Given the description of an element on the screen output the (x, y) to click on. 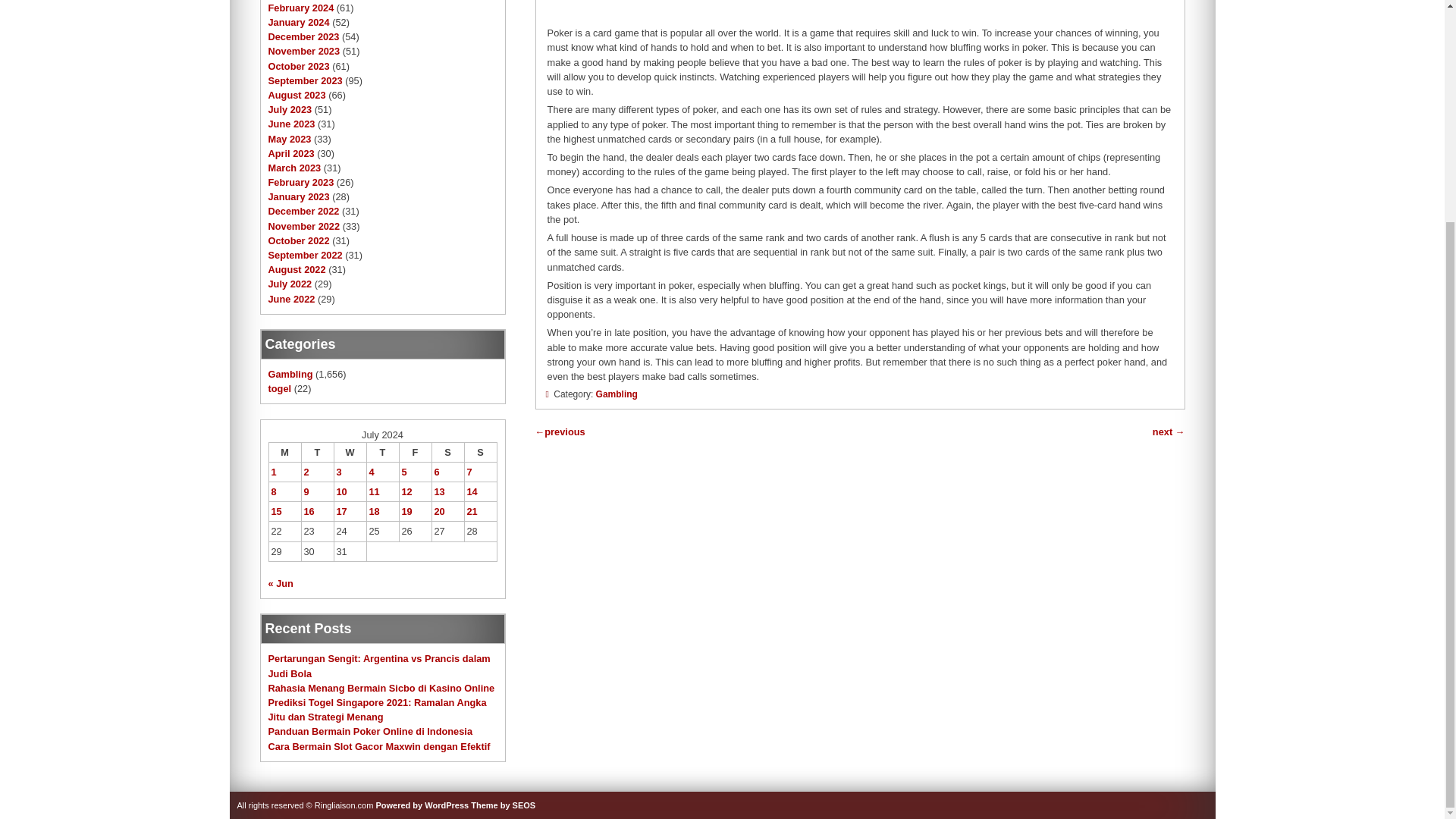
Monday (284, 451)
October 2023 (298, 66)
September 2023 (304, 80)
Thursday (382, 451)
December 2023 (303, 36)
October 2022 (298, 240)
Seos free wordpress themes (502, 804)
March 2023 (294, 167)
November 2023 (303, 50)
February 2023 (300, 182)
February 2024 (300, 7)
November 2022 (303, 225)
Saturday (447, 451)
Tuesday (317, 451)
Friday (414, 451)
